Given the description of an element on the screen output the (x, y) to click on. 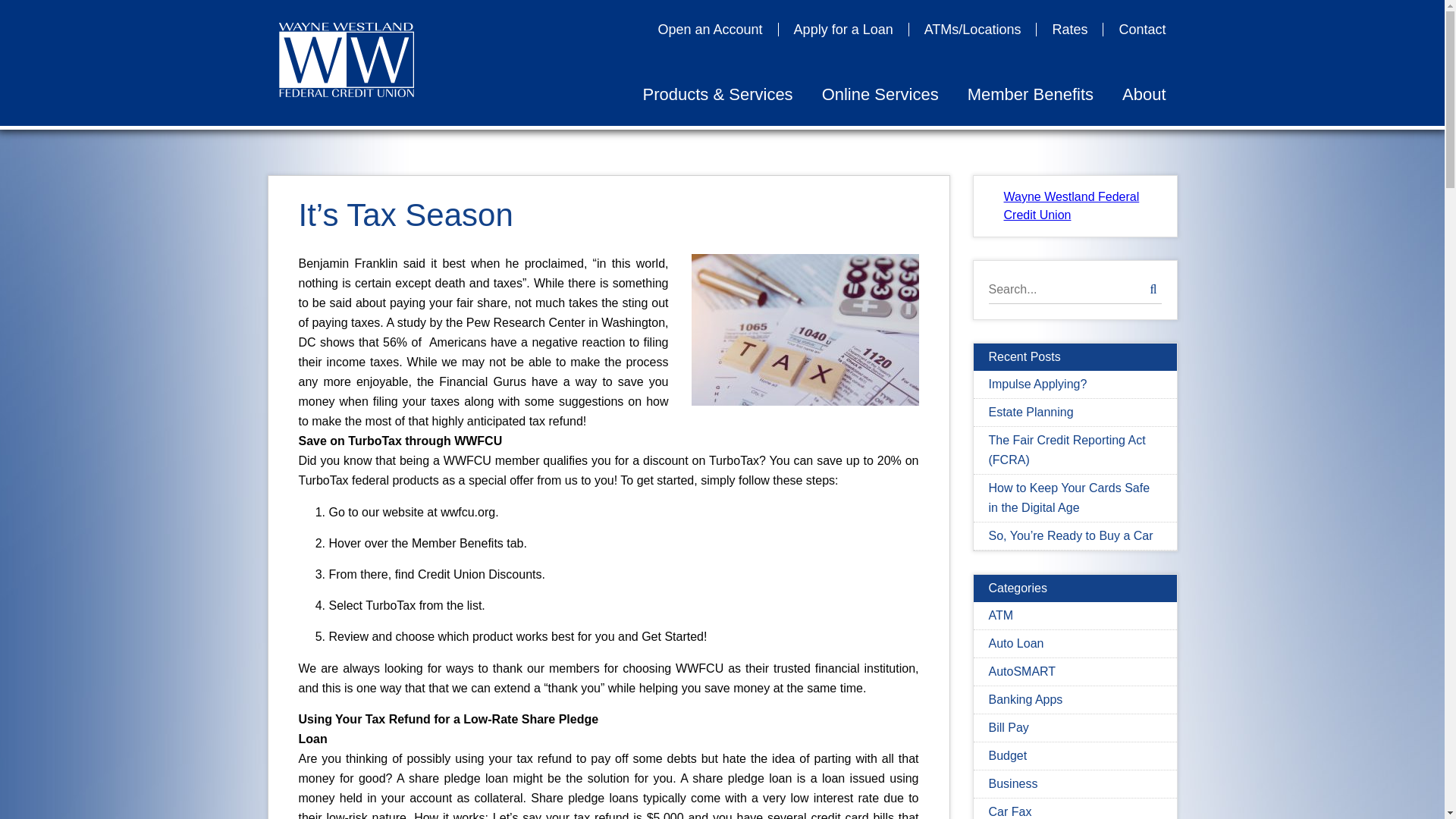
Banking Apps (1025, 698)
Auto Loan (1015, 643)
AutoSMART (1022, 671)
Open an Account (710, 29)
Online Services (880, 94)
Budget (1007, 755)
How to Keep Your Cards Safe in the Digital Age (1069, 497)
Business (1013, 783)
About (1137, 94)
Apply for a Loan (843, 29)
Car Fax (1010, 811)
Bill Pay (1008, 727)
Member Benefits (1030, 94)
ATM (1000, 615)
Contact (1134, 29)
